Given the description of an element on the screen output the (x, y) to click on. 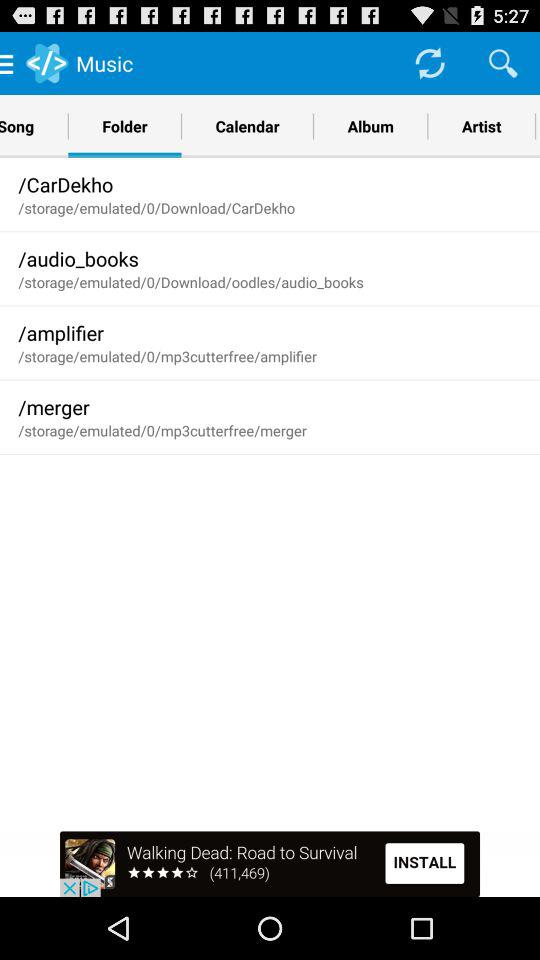
go to loading (429, 62)
